Given the description of an element on the screen output the (x, y) to click on. 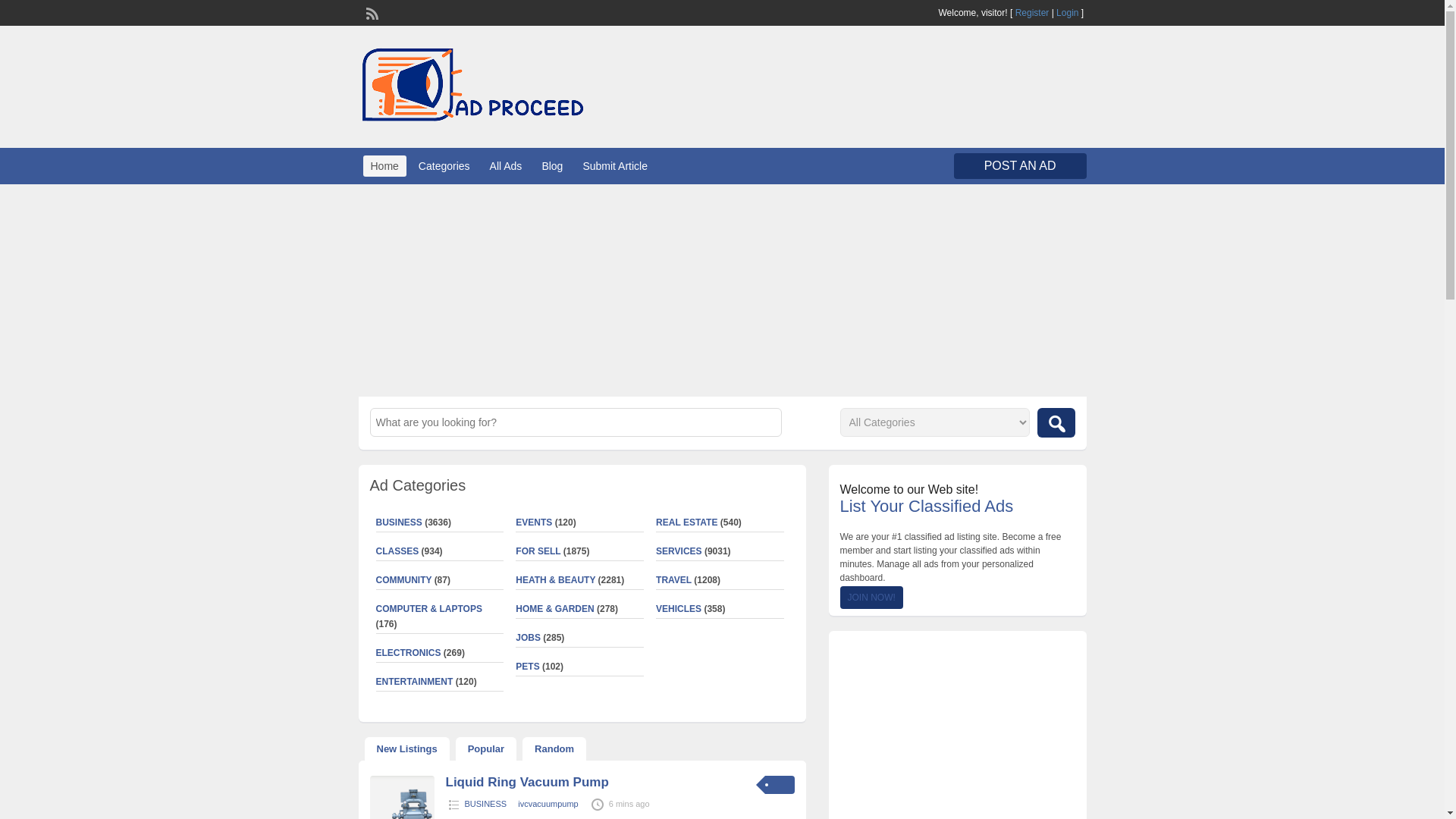
POST AN AD (1019, 166)
EVENTS (533, 521)
Blog (552, 165)
Categories (443, 165)
search (1055, 422)
REAL ESTATE (686, 521)
FOR SELL (537, 551)
BUSINESS (398, 521)
COMMUNITY (403, 579)
Submit Article (615, 165)
